Given the description of an element on the screen output the (x, y) to click on. 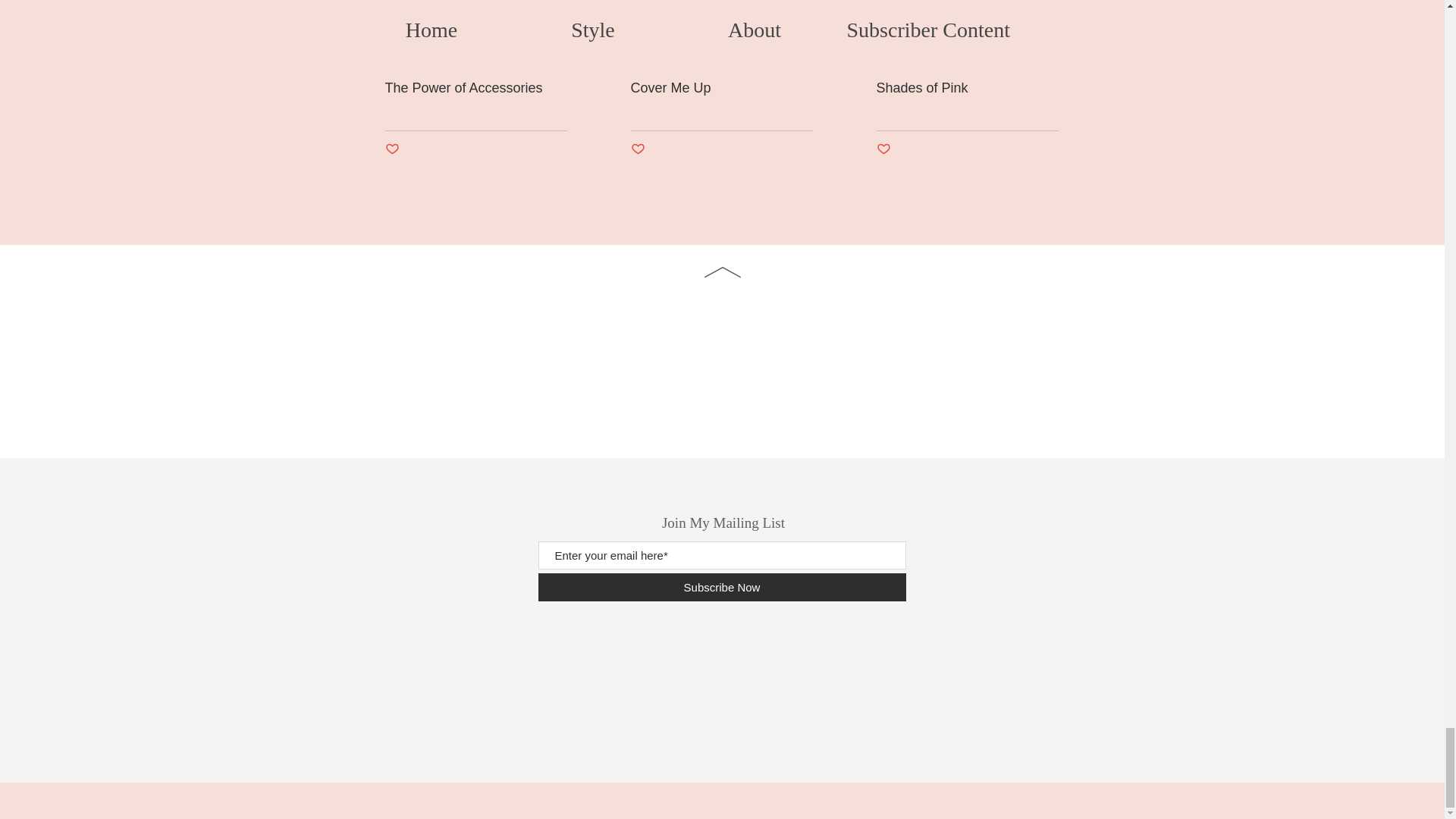
Post not marked as liked (637, 149)
The Power of Accessories (476, 88)
Post not marked as liked (883, 149)
Post not marked as liked (391, 149)
Cover Me Up (721, 88)
Subscribe Now (721, 587)
Shades of Pink (967, 88)
